Given the description of an element on the screen output the (x, y) to click on. 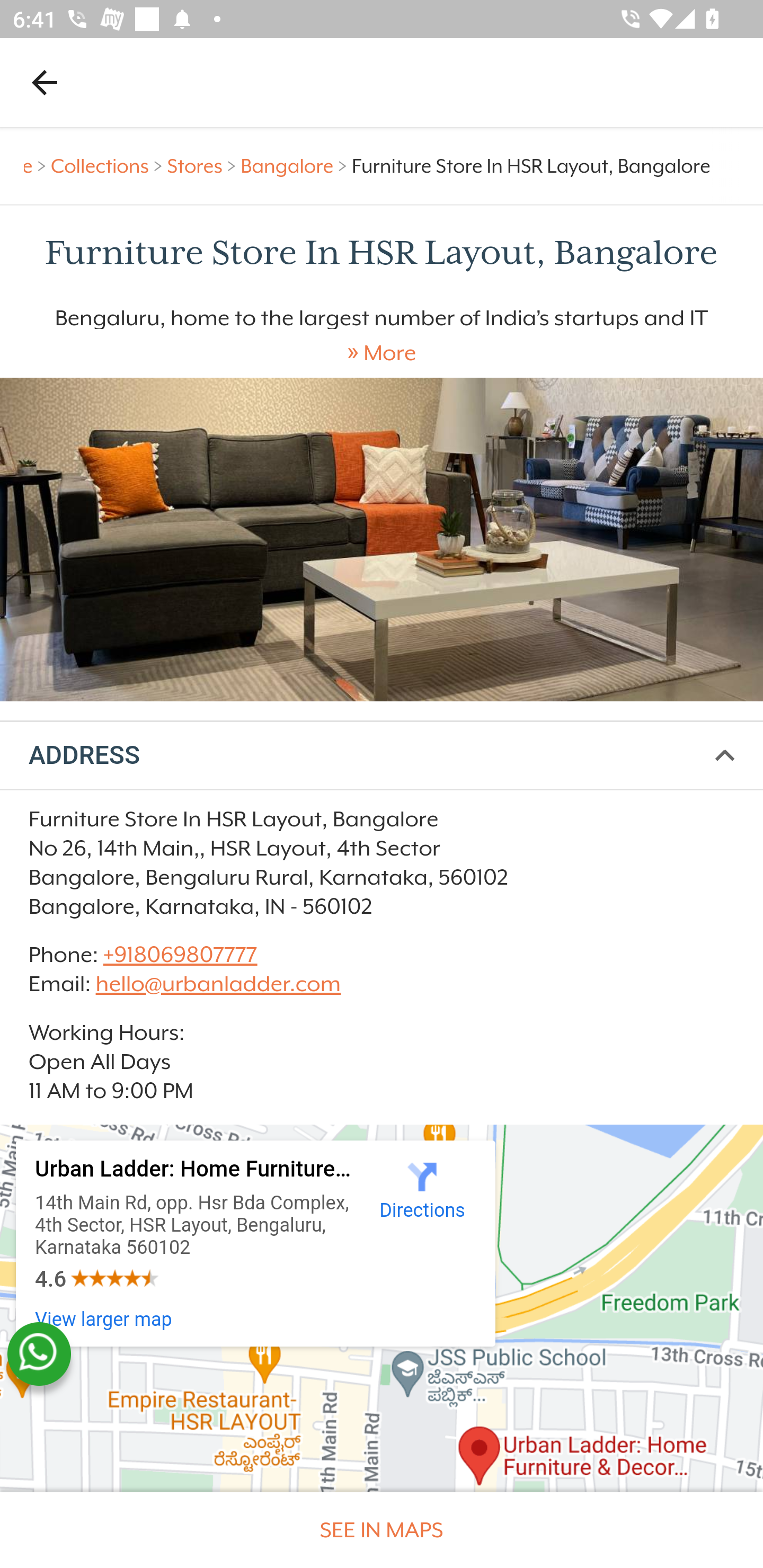
Navigate up (44, 82)
Collections >  Collections  >  (108, 165)
Stores >  Stores  >  (204, 165)
Bangalore >  Bangalore  >  (296, 165)
» More (381, 353)
Experience Centre (381, 539)
ADDRESS (381, 756)
+918069807777 (179, 953)
hello@urbanladder.com (218, 983)
View larger map (104, 1319)
whatsapp (38, 1353)
SEE IN MAPS (381, 1530)
